Given the description of an element on the screen output the (x, y) to click on. 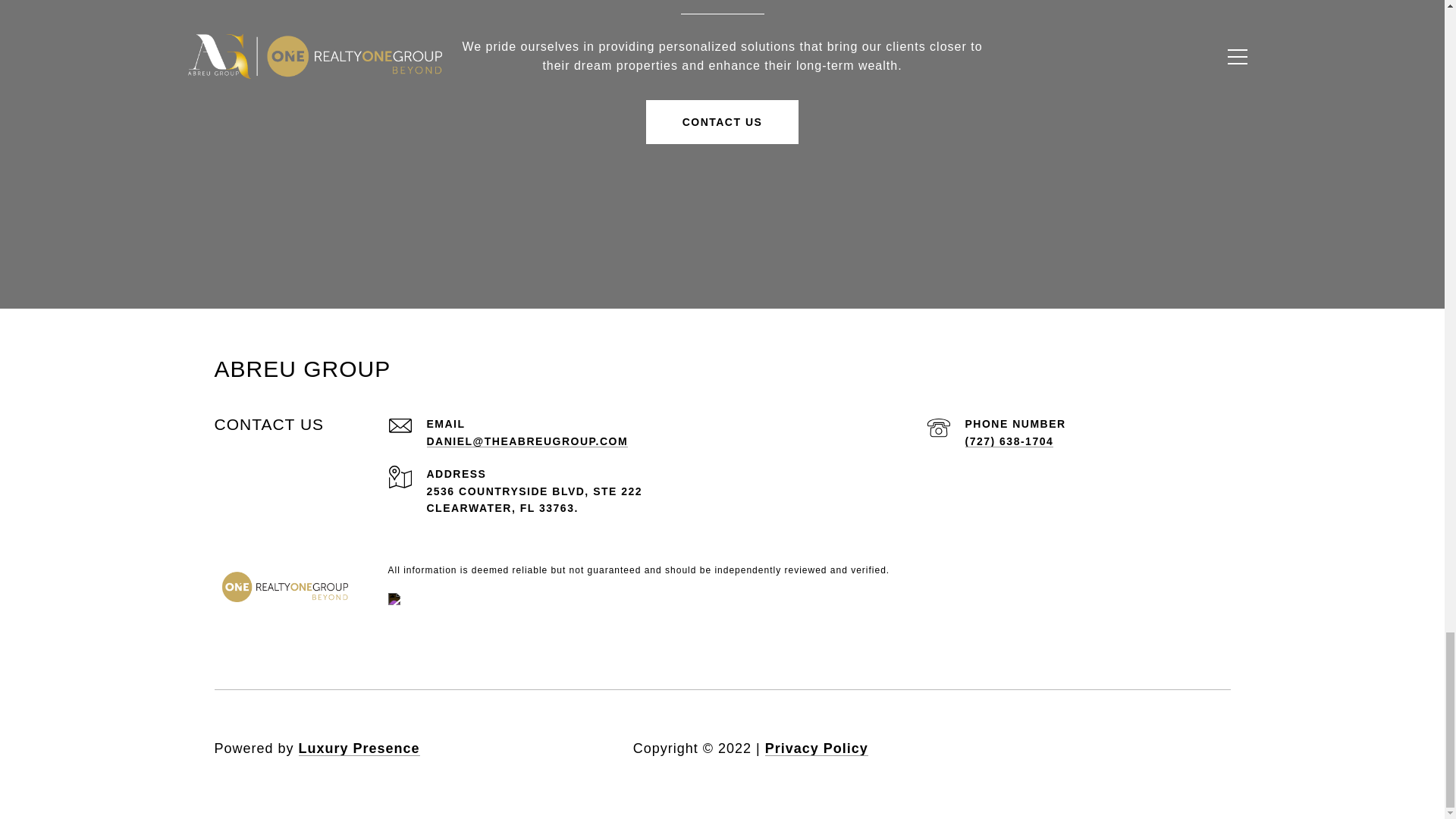
CONTACT US (722, 121)
